Given the description of an element on the screen output the (x, y) to click on. 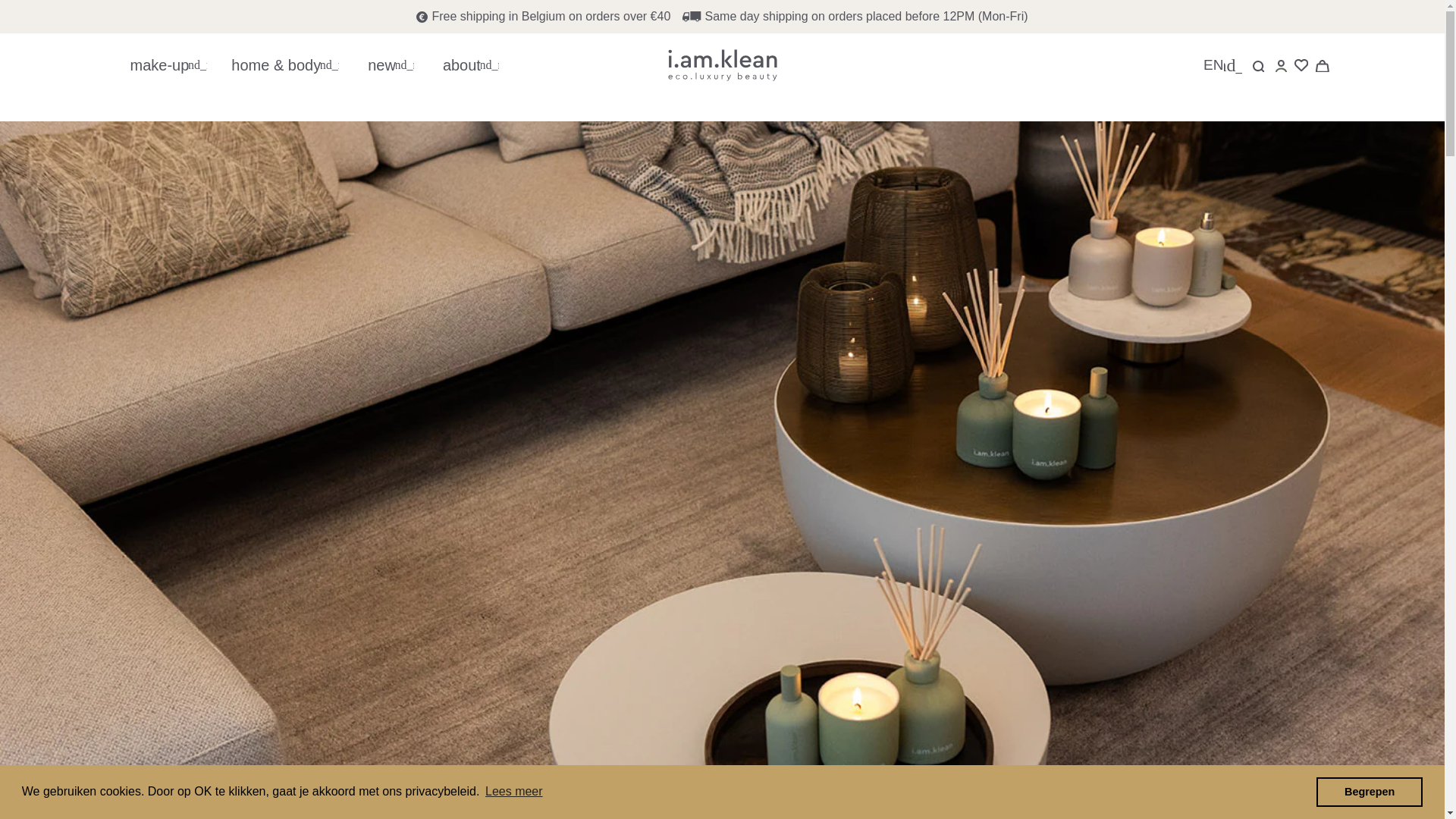
Lees meer (513, 791)
Begrepen (1369, 791)
